Given the description of an element on the screen output the (x, y) to click on. 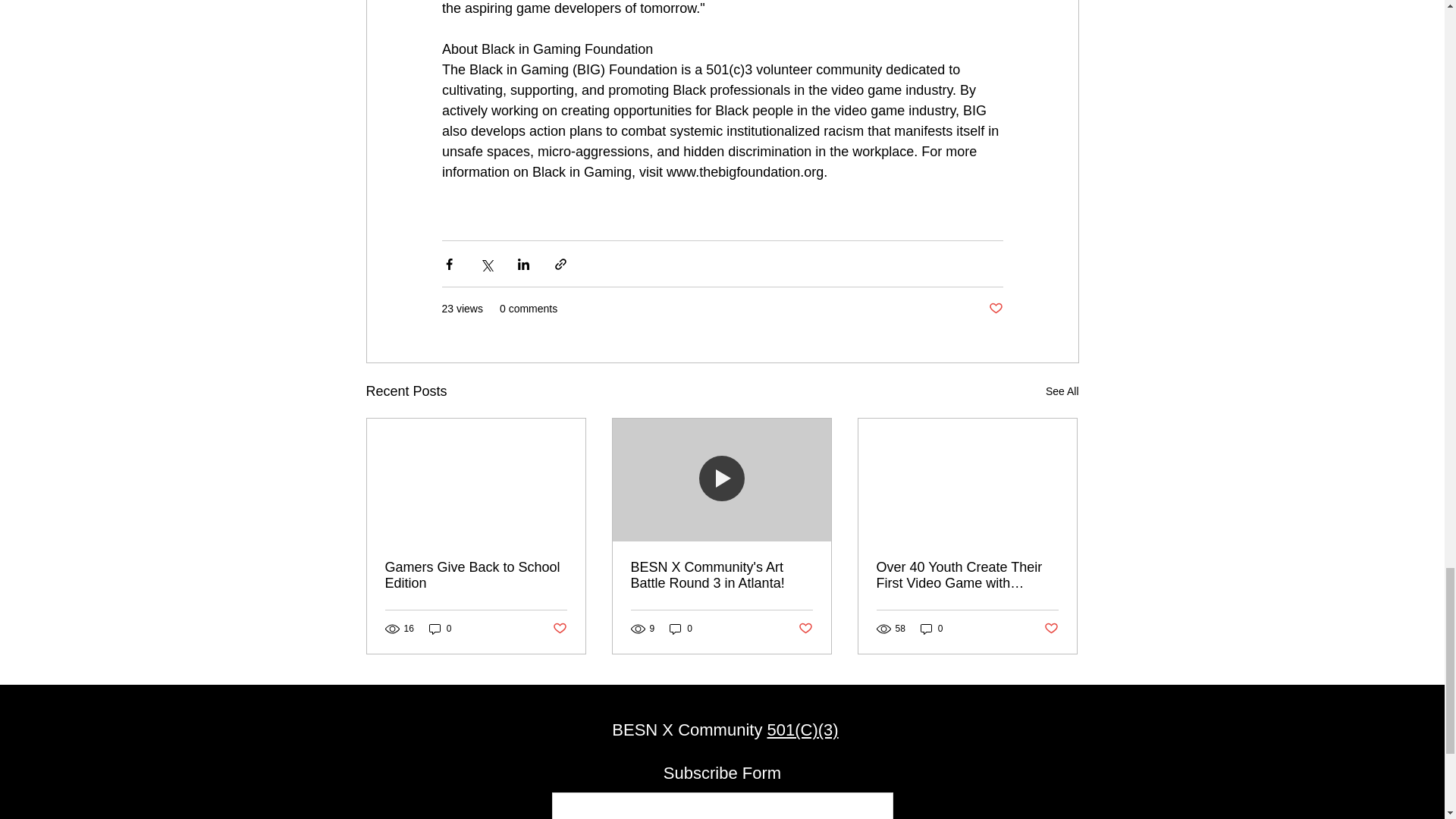
Post not marked as liked (995, 308)
Gamers Give Back to School Edition (476, 575)
0 (440, 628)
0 (931, 628)
BESN X Community  (689, 729)
0 (681, 628)
See All (1061, 391)
BESN X Community's Art Battle Round 3 in Atlanta! (721, 575)
Post not marked as liked (804, 628)
